Given the description of an element on the screen output the (x, y) to click on. 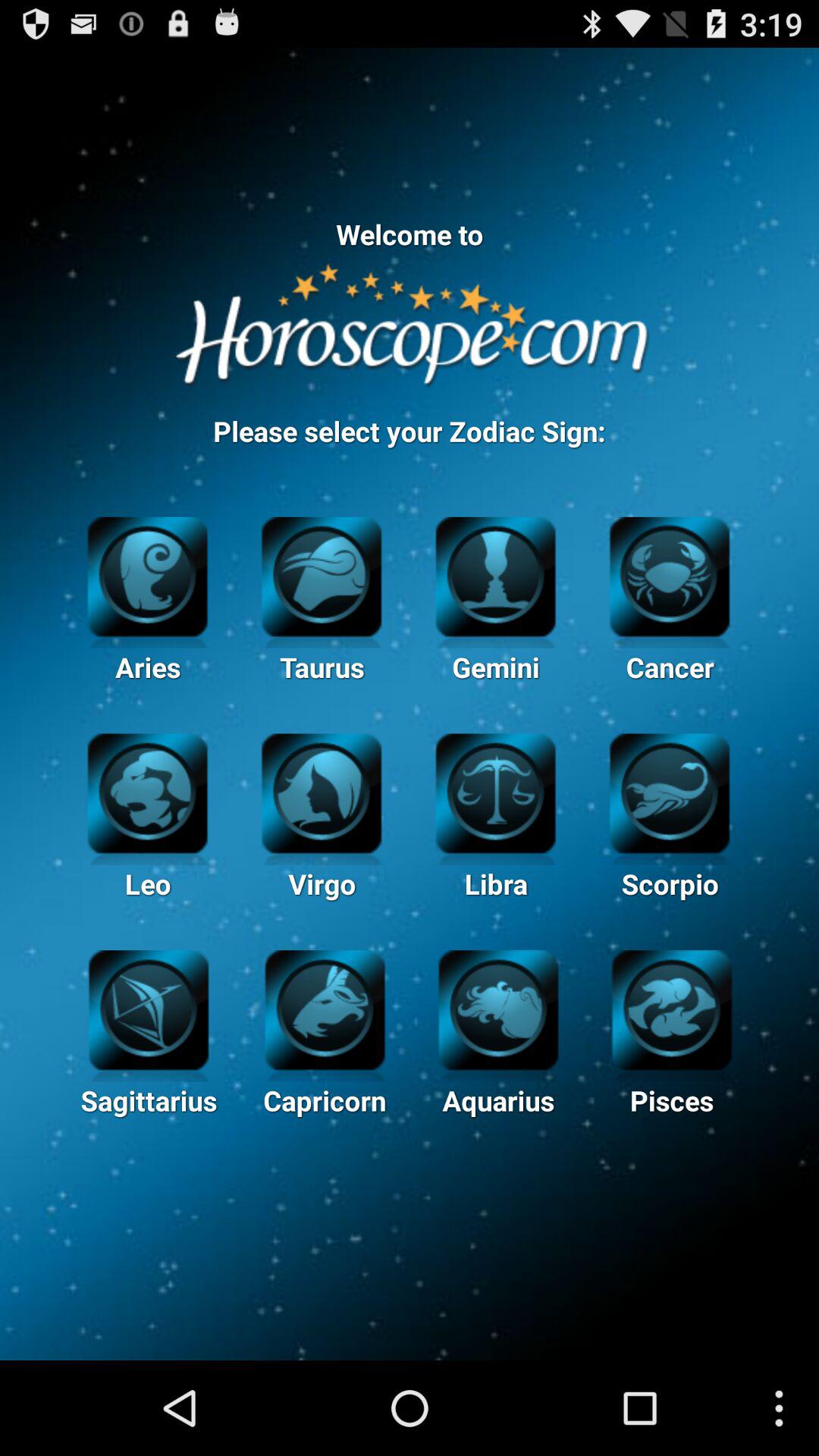
select taurus (321, 574)
